Given the description of an element on the screen output the (x, y) to click on. 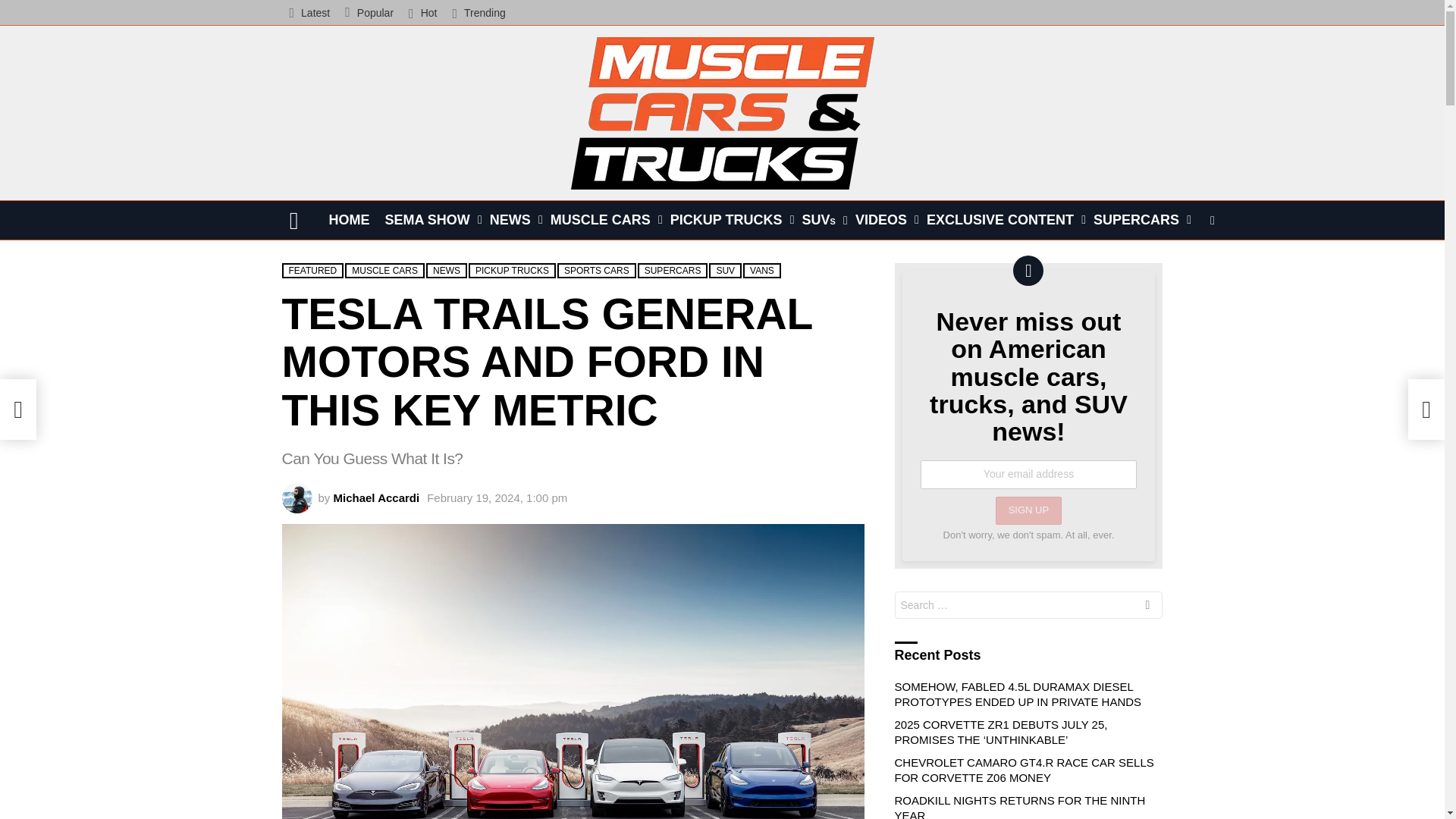
Sign up (402, 338)
Trending (478, 12)
Popular (369, 12)
Latest (309, 12)
Sign up (1028, 510)
MUSCLE CARS (602, 219)
PICKUP TRUCKS (728, 219)
HOME (349, 219)
SEMA SHOW (429, 219)
NEWS (512, 219)
Hot (422, 12)
